Given the description of an element on the screen output the (x, y) to click on. 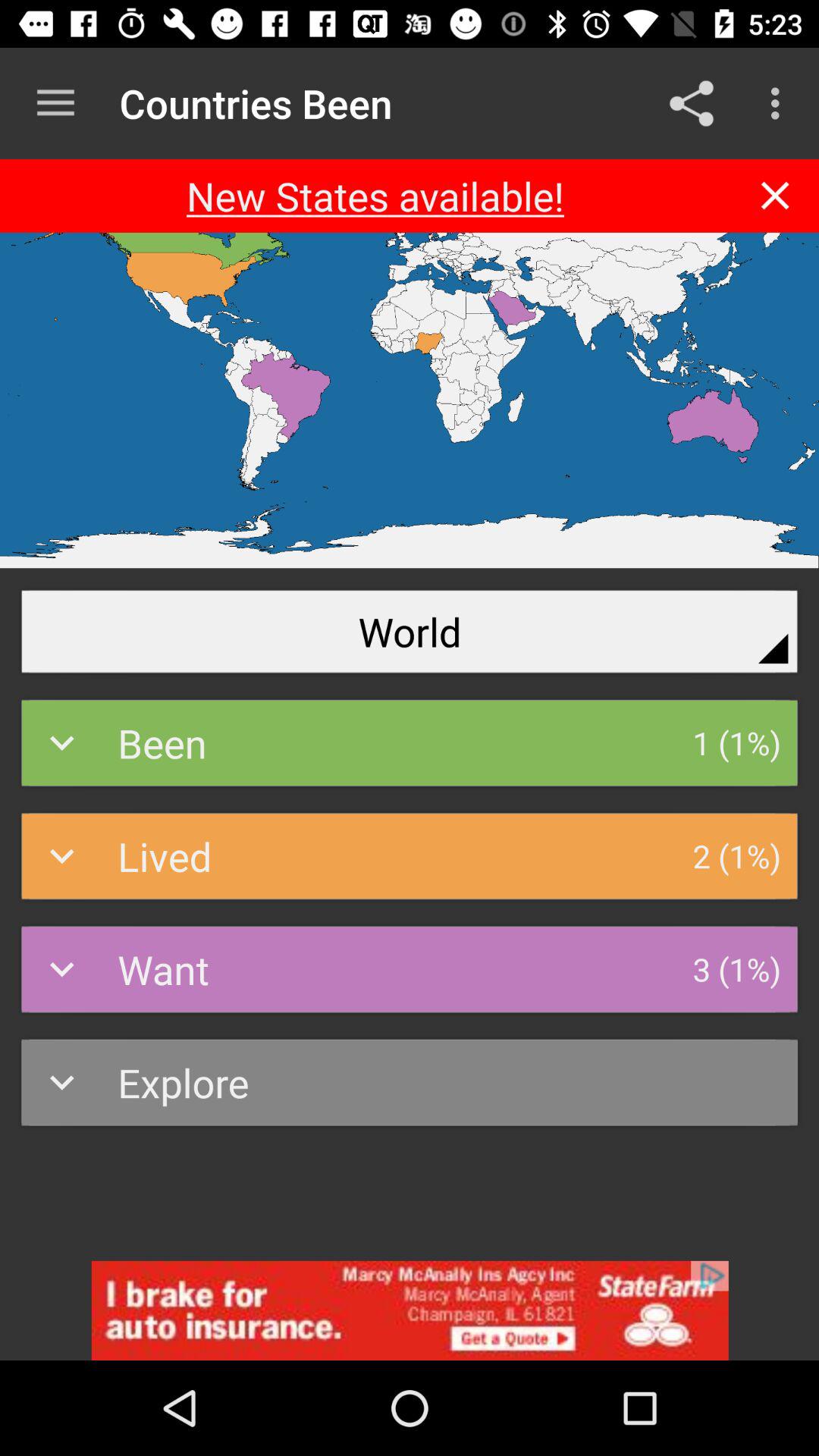
advertisement state farm (409, 1310)
